Given the description of an element on the screen output the (x, y) to click on. 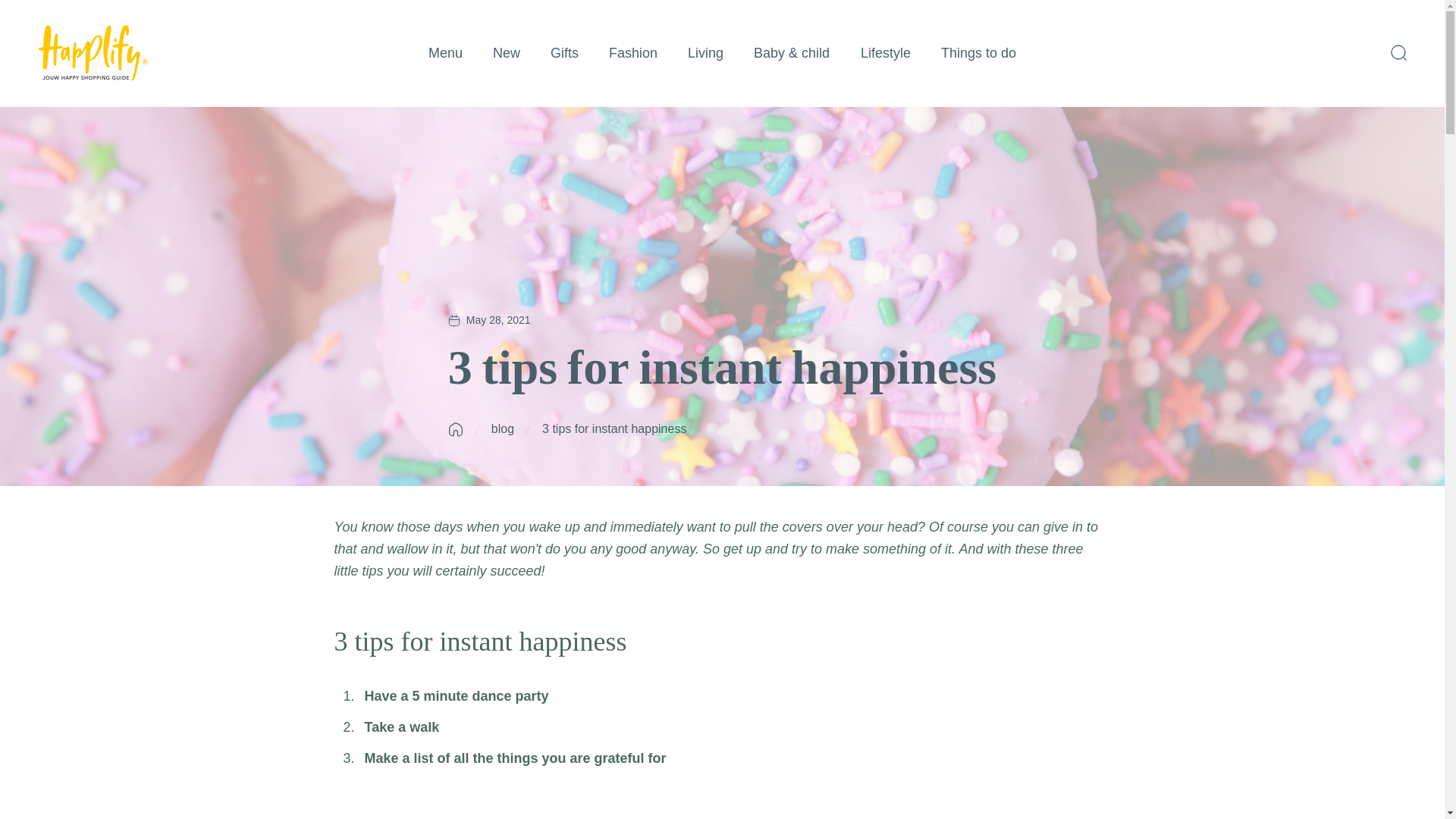
Facebook (43, 7)
Back to the frontpage (455, 429)
Happlify (92, 53)
English (1368, 7)
Happlify on Pinterest (177, 7)
Happlify on Facebook (43, 7)
Happlify on TikTok (143, 7)
Instagram (76, 7)
TikTok (143, 7)
Happlify on Instagram (76, 7)
